Given the description of an element on the screen output the (x, y) to click on. 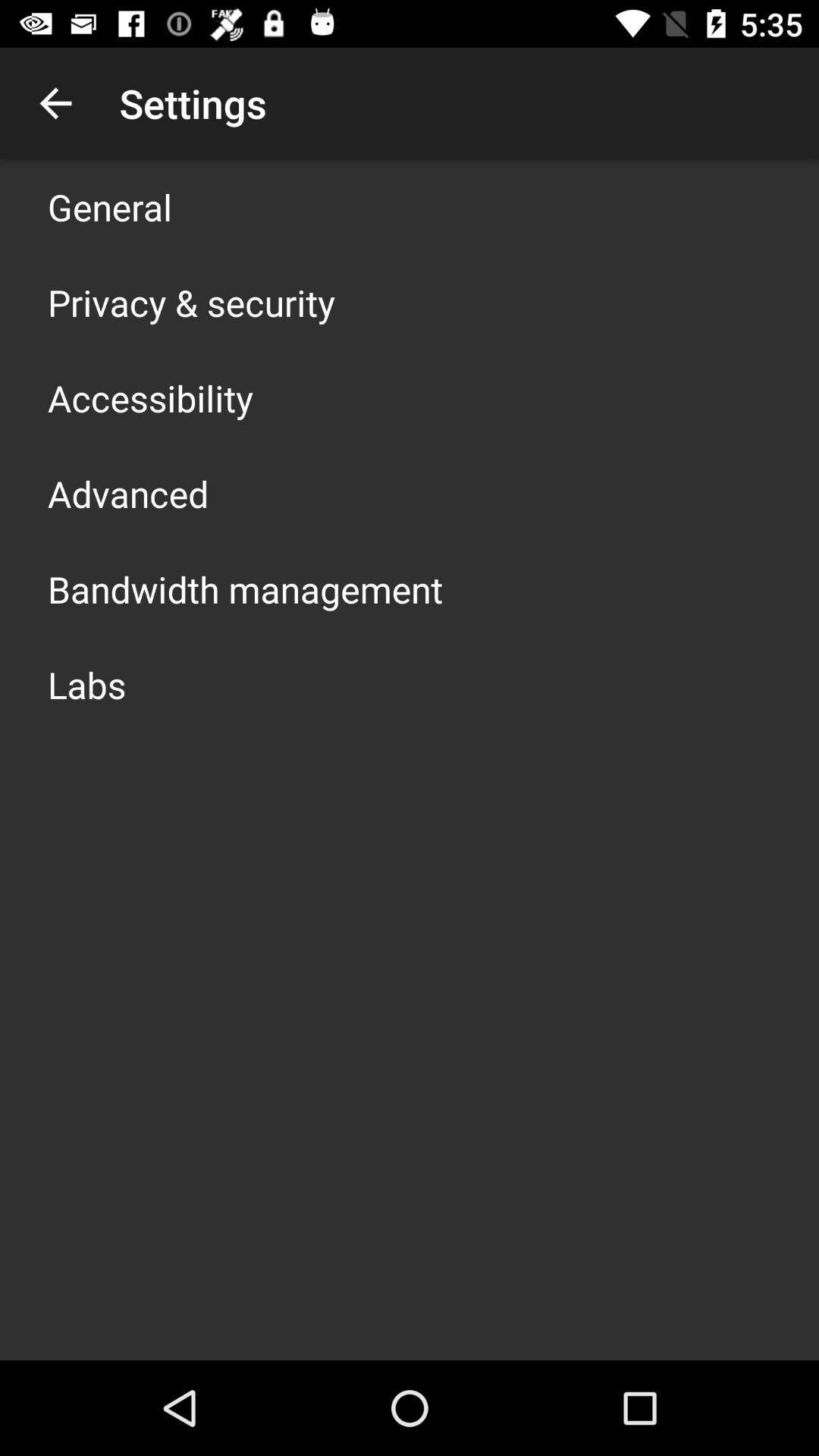
click icon above privacy & security app (109, 206)
